Given the description of an element on the screen output the (x, y) to click on. 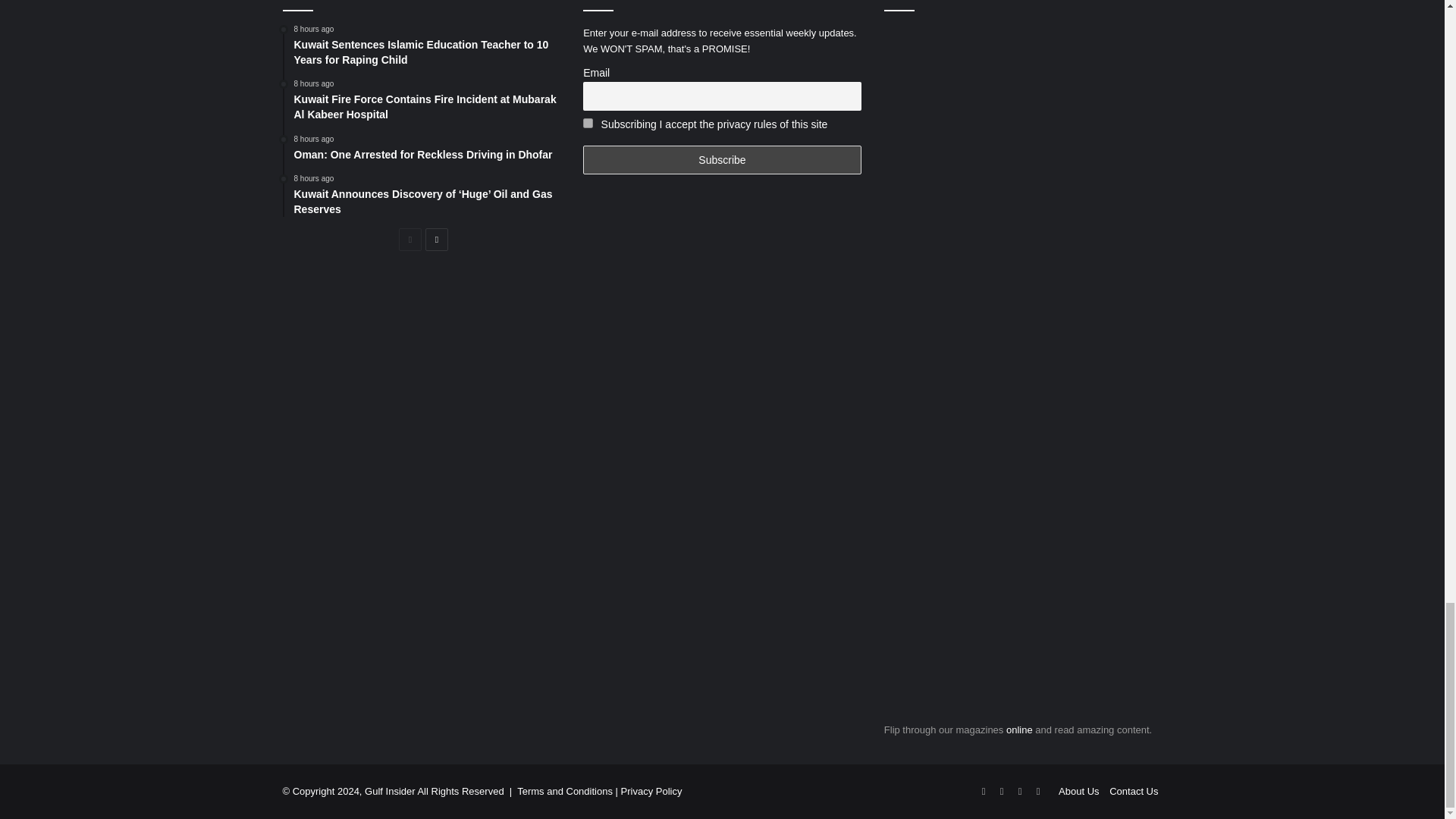
on (587, 122)
Subscribe (722, 159)
